Given the description of an element on the screen output the (x, y) to click on. 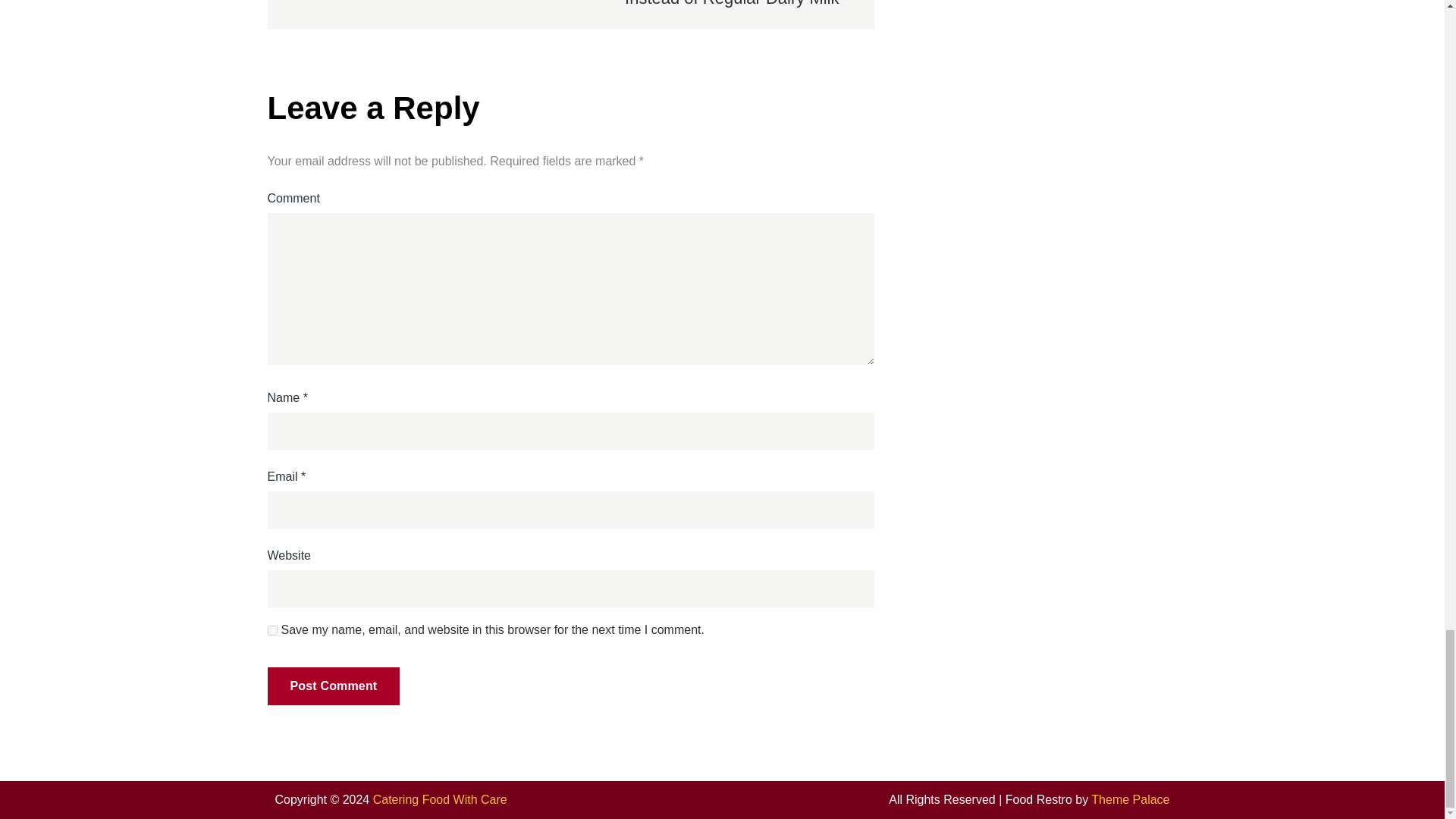
Post Comment (332, 686)
Catering Food With Care (439, 799)
Theme Palace (1129, 799)
Post Comment (332, 686)
yes (271, 630)
